Given the description of an element on the screen output the (x, y) to click on. 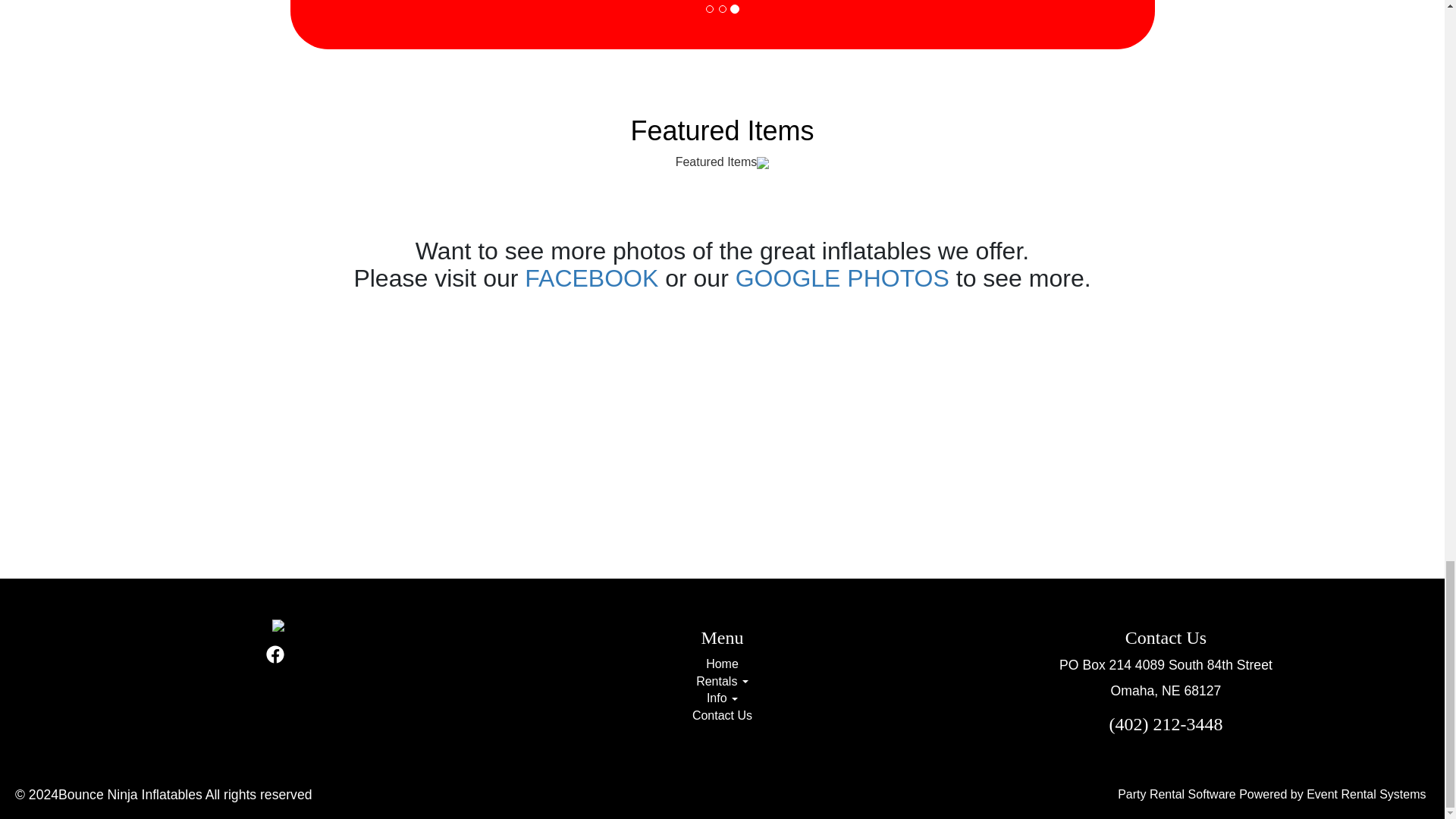
Home (722, 663)
FACEBOOK (591, 277)
GOOGLE PHOTOS (842, 277)
